Given the description of an element on the screen output the (x, y) to click on. 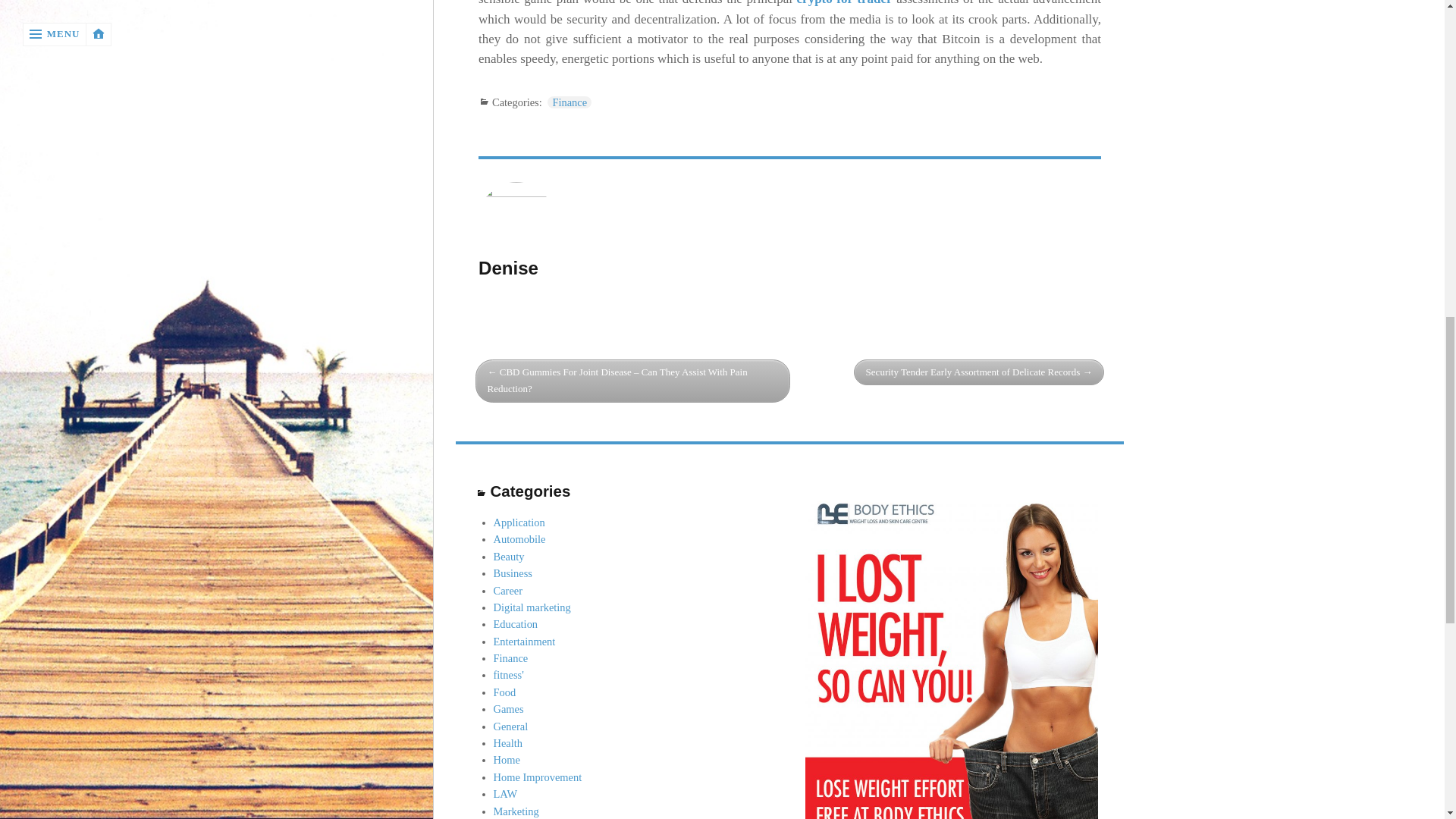
Games (508, 708)
crypto for trader (844, 2)
Security Tender Early Assortment of Delicate Records (979, 372)
Application (518, 522)
Business (512, 573)
Beauty (508, 556)
LAW (505, 793)
General (510, 726)
Health (507, 743)
Entertainment (524, 641)
Automobile (519, 539)
Career (507, 590)
Home (506, 759)
Education (515, 623)
Digital marketing (531, 607)
